Given the description of an element on the screen output the (x, y) to click on. 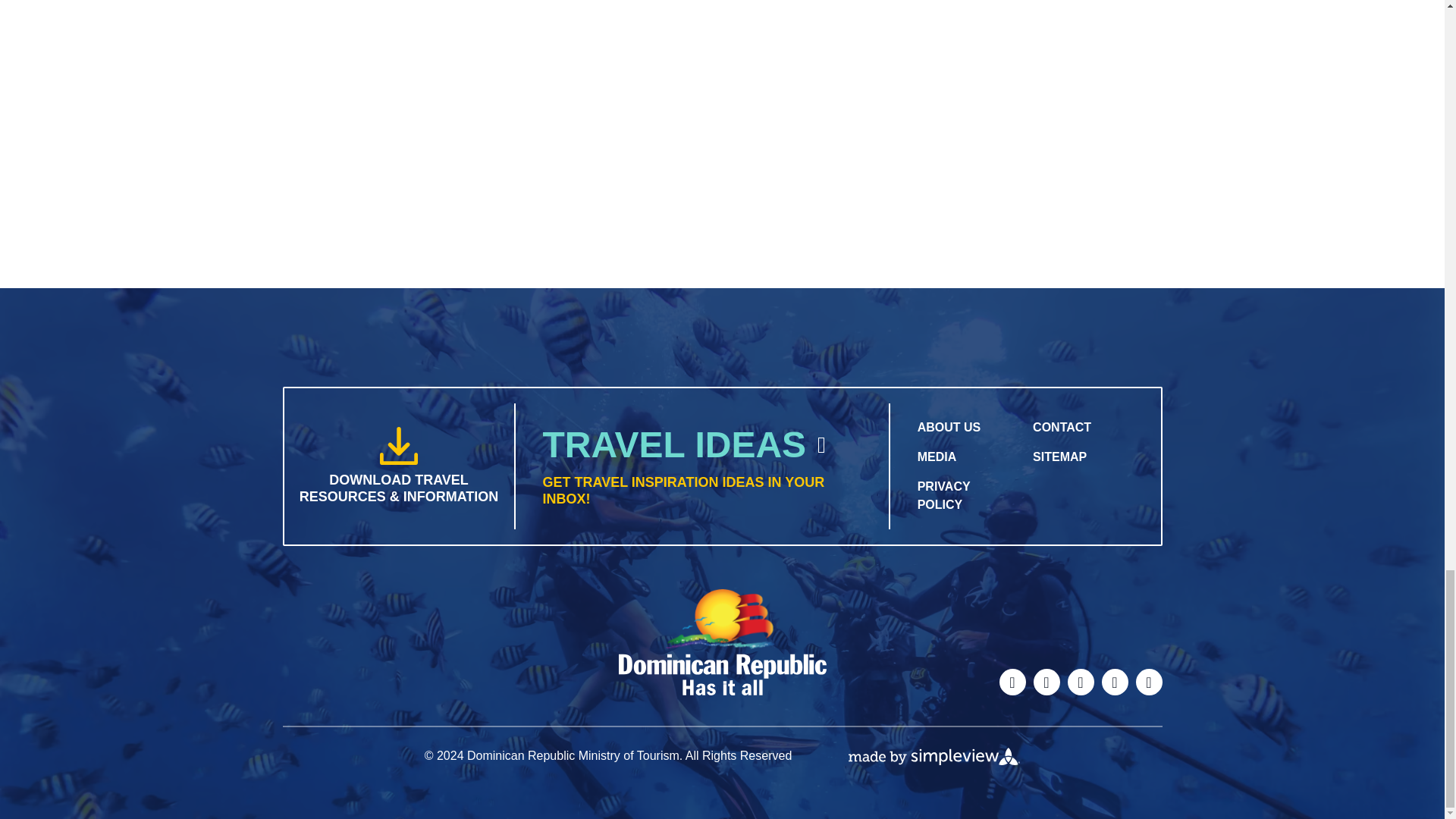
About Us (949, 427)
Contact (1061, 427)
